Given the description of an element on the screen output the (x, y) to click on. 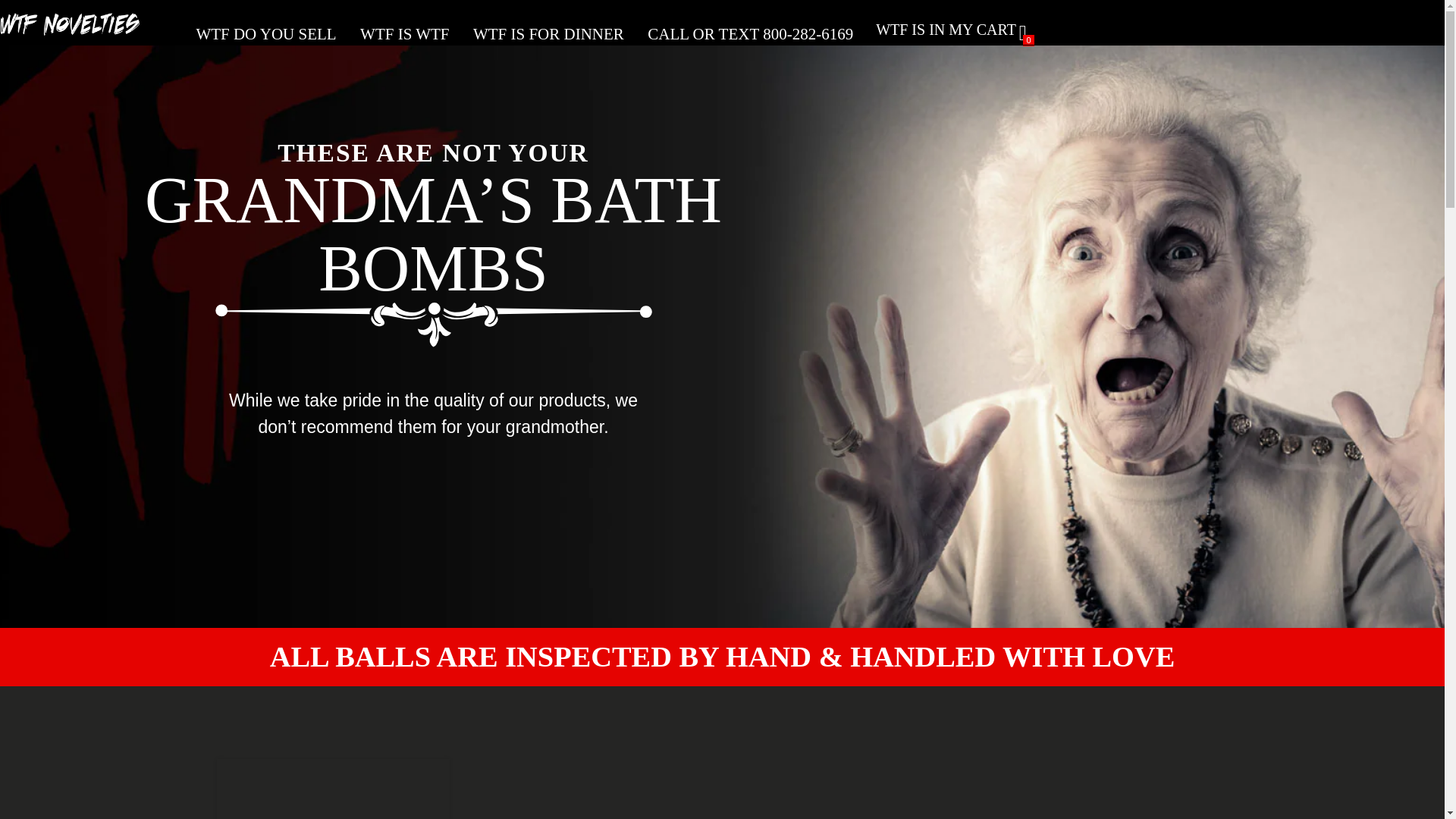
WTF Novelties (76, 29)
